Given the description of an element on the screen output the (x, y) to click on. 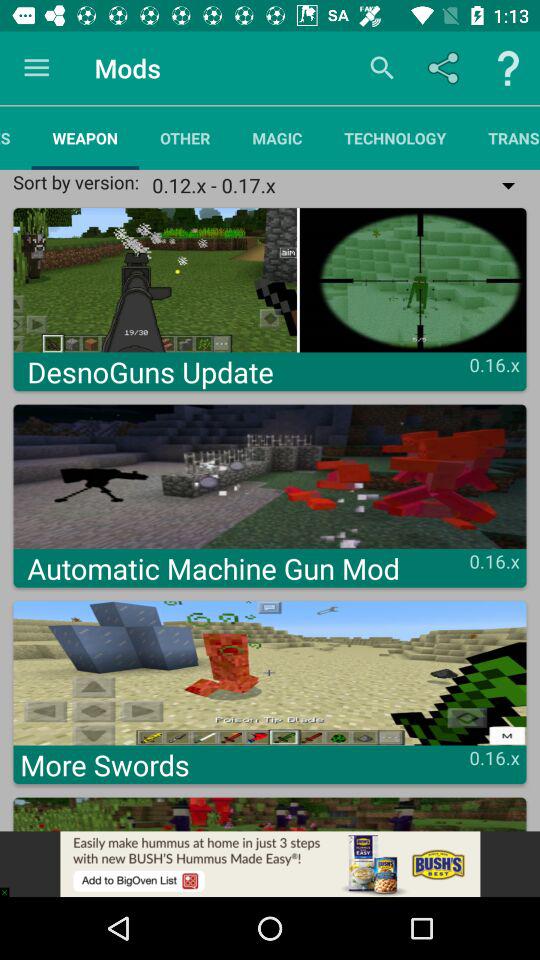
swipe to magic (277, 137)
